Given the description of an element on the screen output the (x, y) to click on. 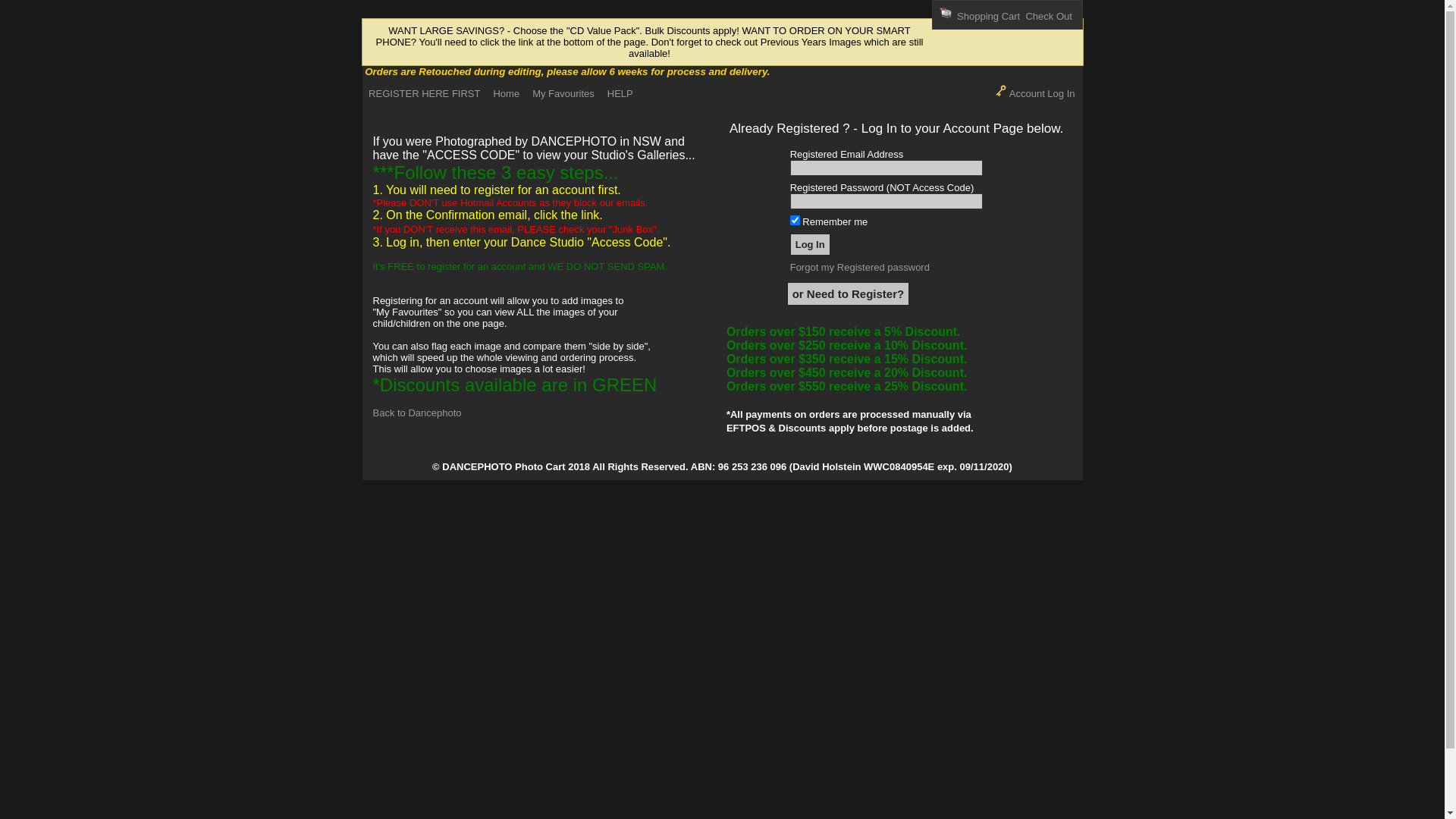
REGISTER HERE FIRST Element type: text (430, 93)
Home Element type: text (511, 93)
My Favourites Element type: text (569, 93)
Check Out Element type: text (1048, 15)
HELP Element type: text (626, 93)
or Need to Register? Element type: text (848, 293)
Shopping Cart Element type: text (988, 15)
Forgot my Registered password Element type: text (859, 267)
Log In Element type: text (810, 244)
Back to Dancephoto Element type: text (417, 412)
Account Log In Element type: text (1034, 93)
